Given the description of an element on the screen output the (x, y) to click on. 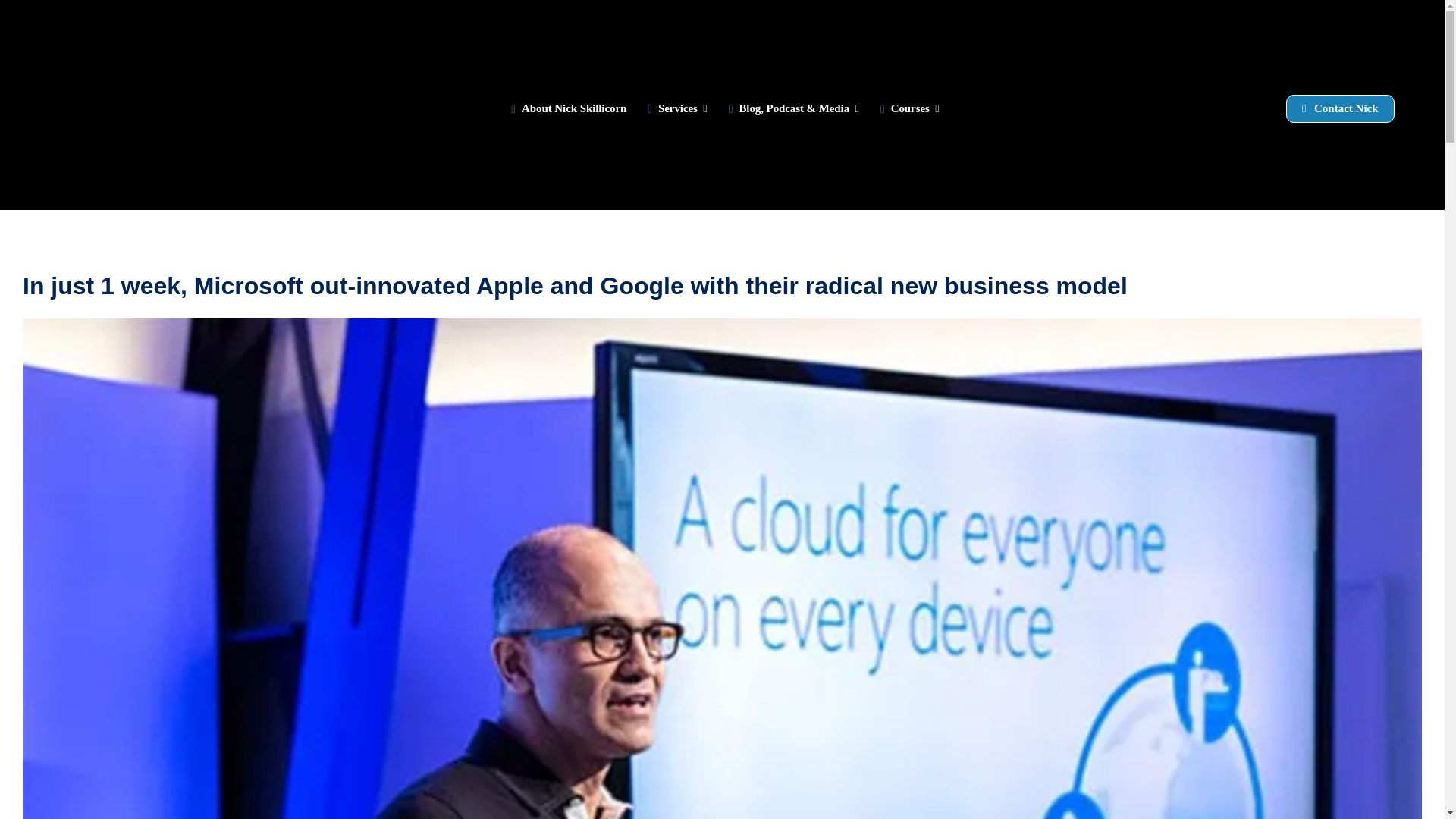
Courses (907, 105)
Services (674, 105)
Contact Nick (1339, 108)
About Nick Skillicorn (565, 105)
